Given the description of an element on the screen output the (x, y) to click on. 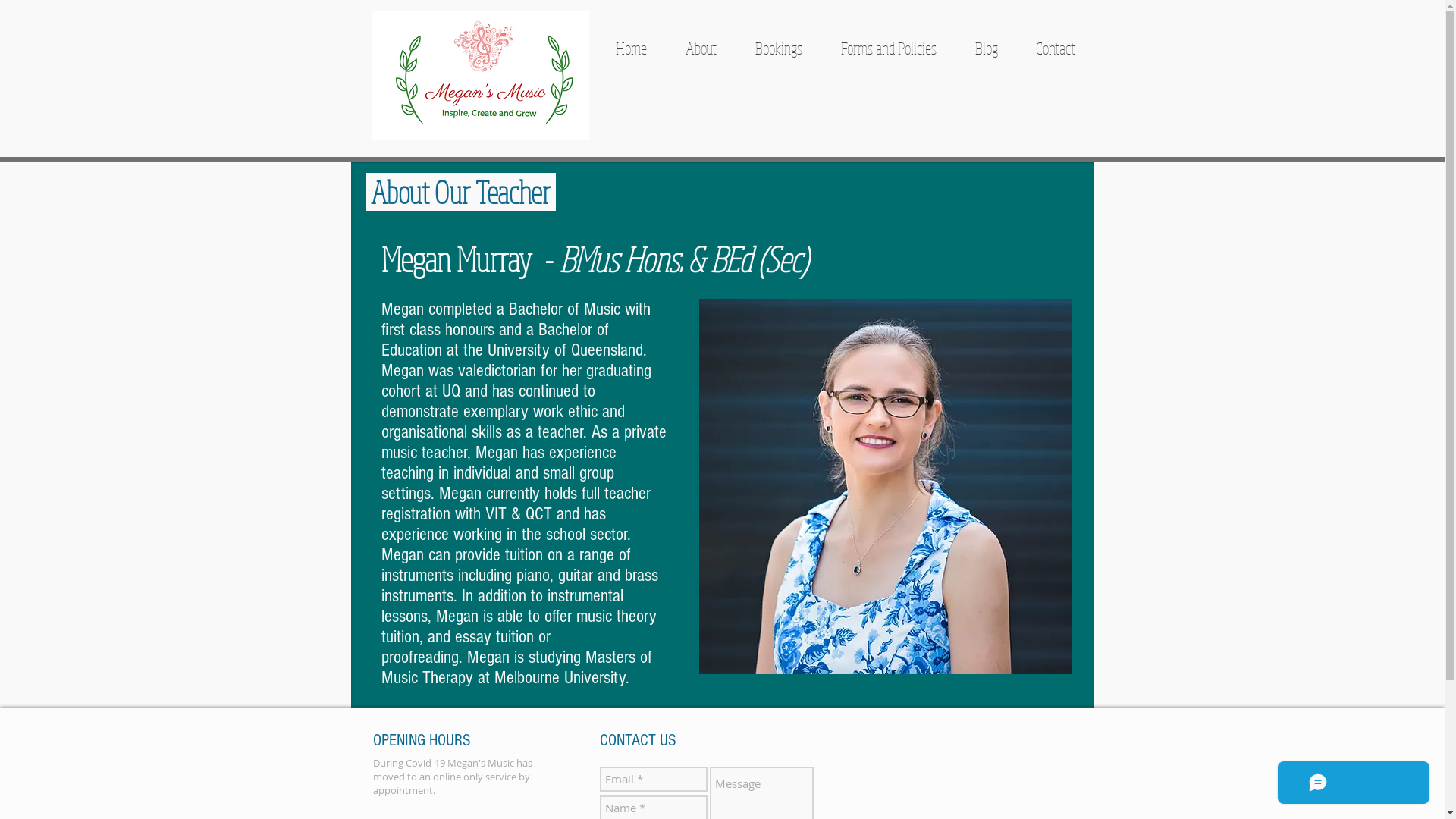
Blog Element type: text (985, 47)
Contact Element type: text (1054, 47)
Home Element type: text (630, 47)
